Given the description of an element on the screen output the (x, y) to click on. 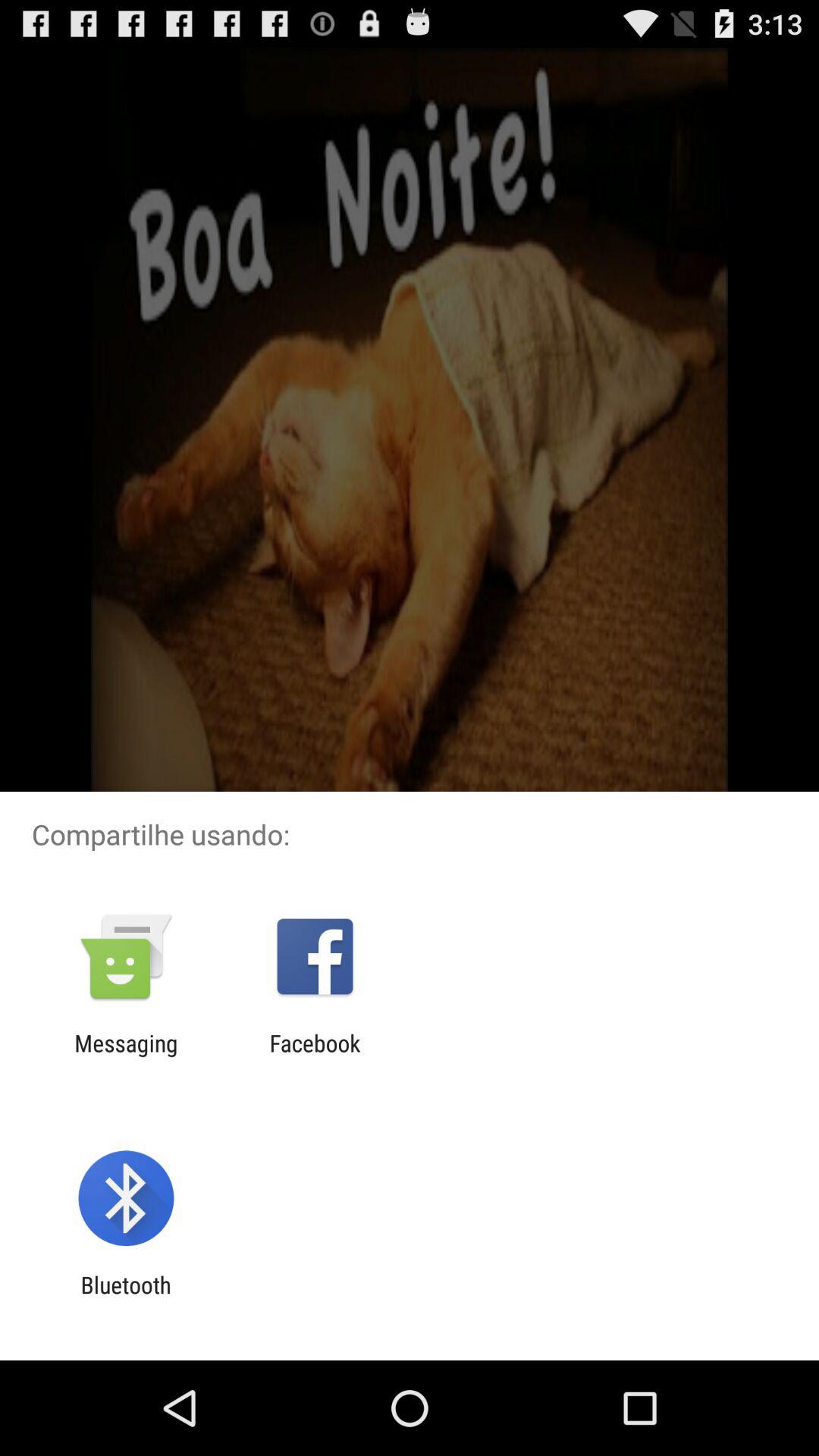
swipe to the bluetooth icon (125, 1298)
